Given the description of an element on the screen output the (x, y) to click on. 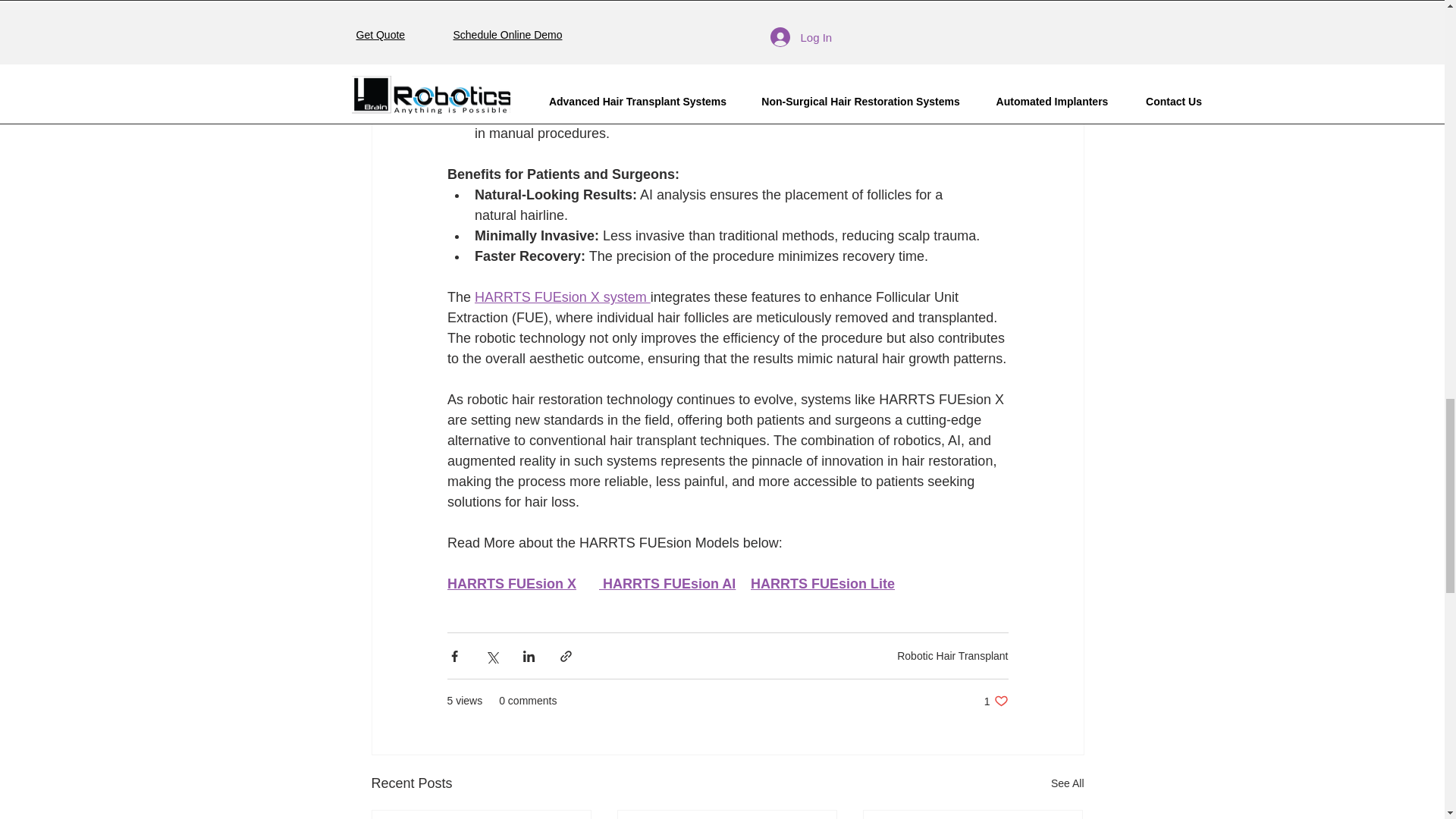
HARRTS FUEsion X (511, 583)
HARRTS FUEsion AI (668, 583)
See All (996, 700)
HARRTS FUEsion Lite (1067, 783)
HARRTS FUEsion X system  (823, 583)
Robotic Hair Transplant (562, 296)
